Given the description of an element on the screen output the (x, y) to click on. 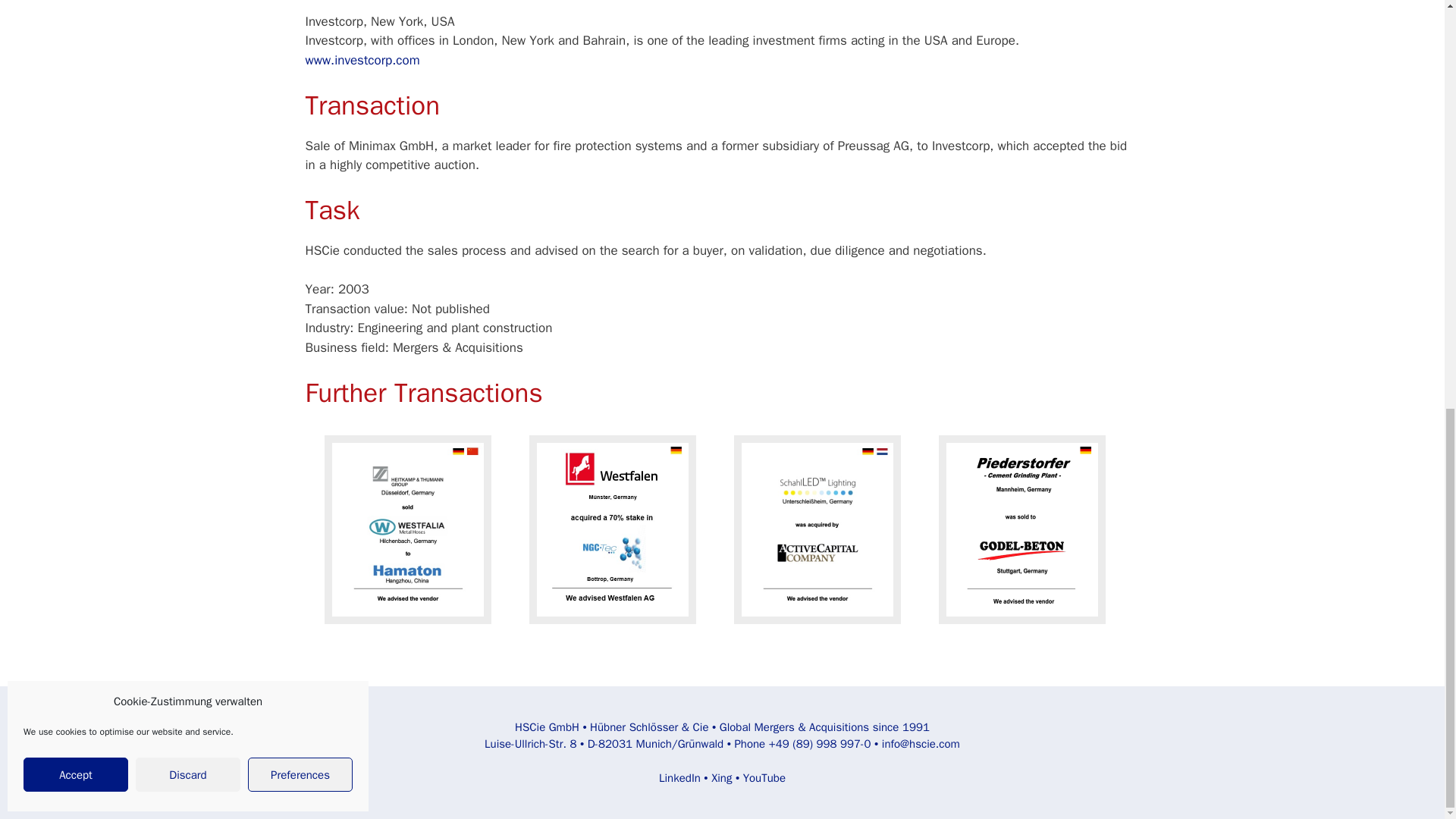
www.investcorp.com (361, 59)
Luise-Ullrich-Str. 8 (530, 744)
Scroll back to top (1406, 722)
